Given the description of an element on the screen output the (x, y) to click on. 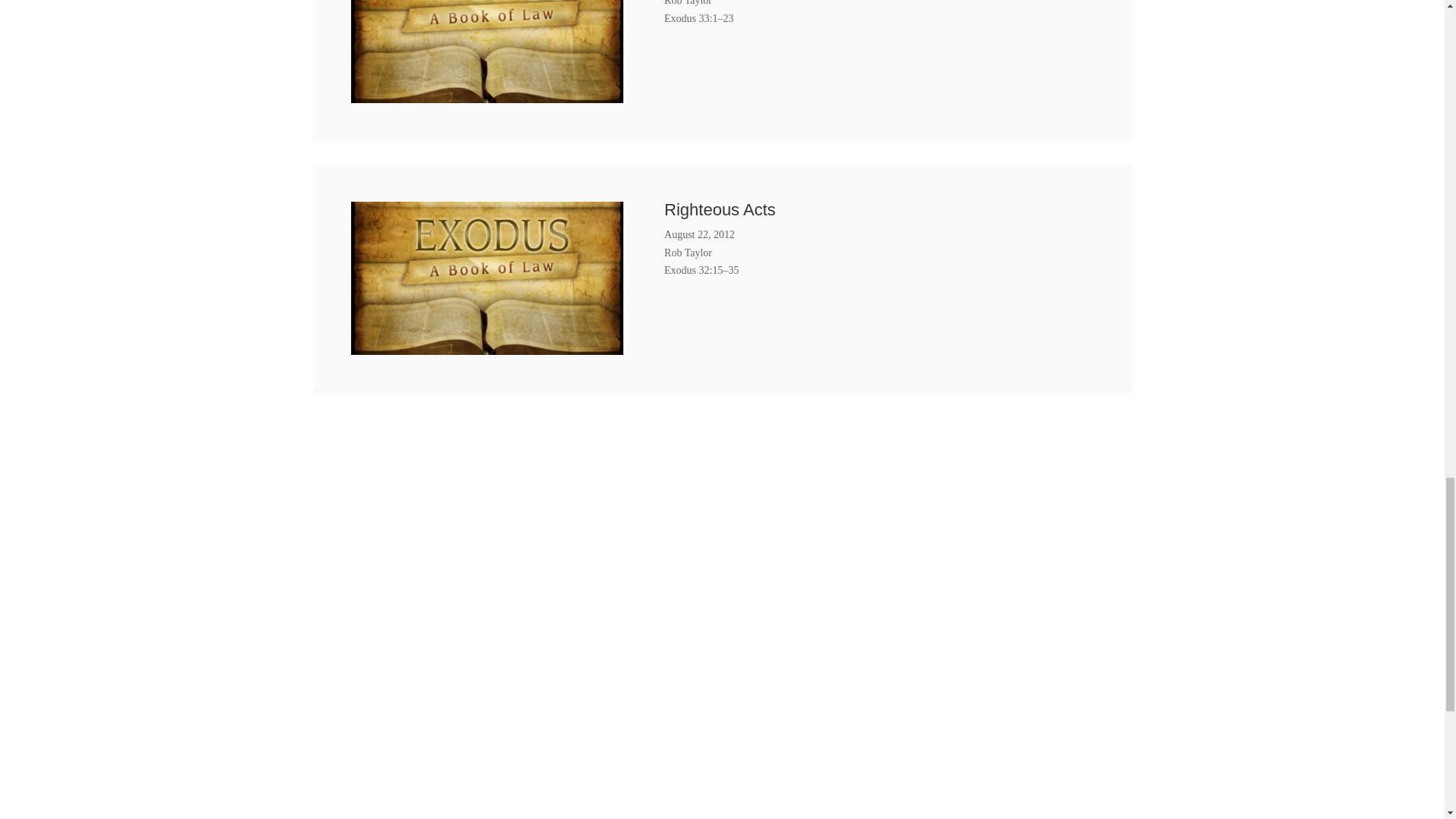
Permanent Link to Relationship Restoration (486, 93)
Permanent Link to Righteous Acts (486, 345)
Righteous Acts (719, 209)
